Given the description of an element on the screen output the (x, y) to click on. 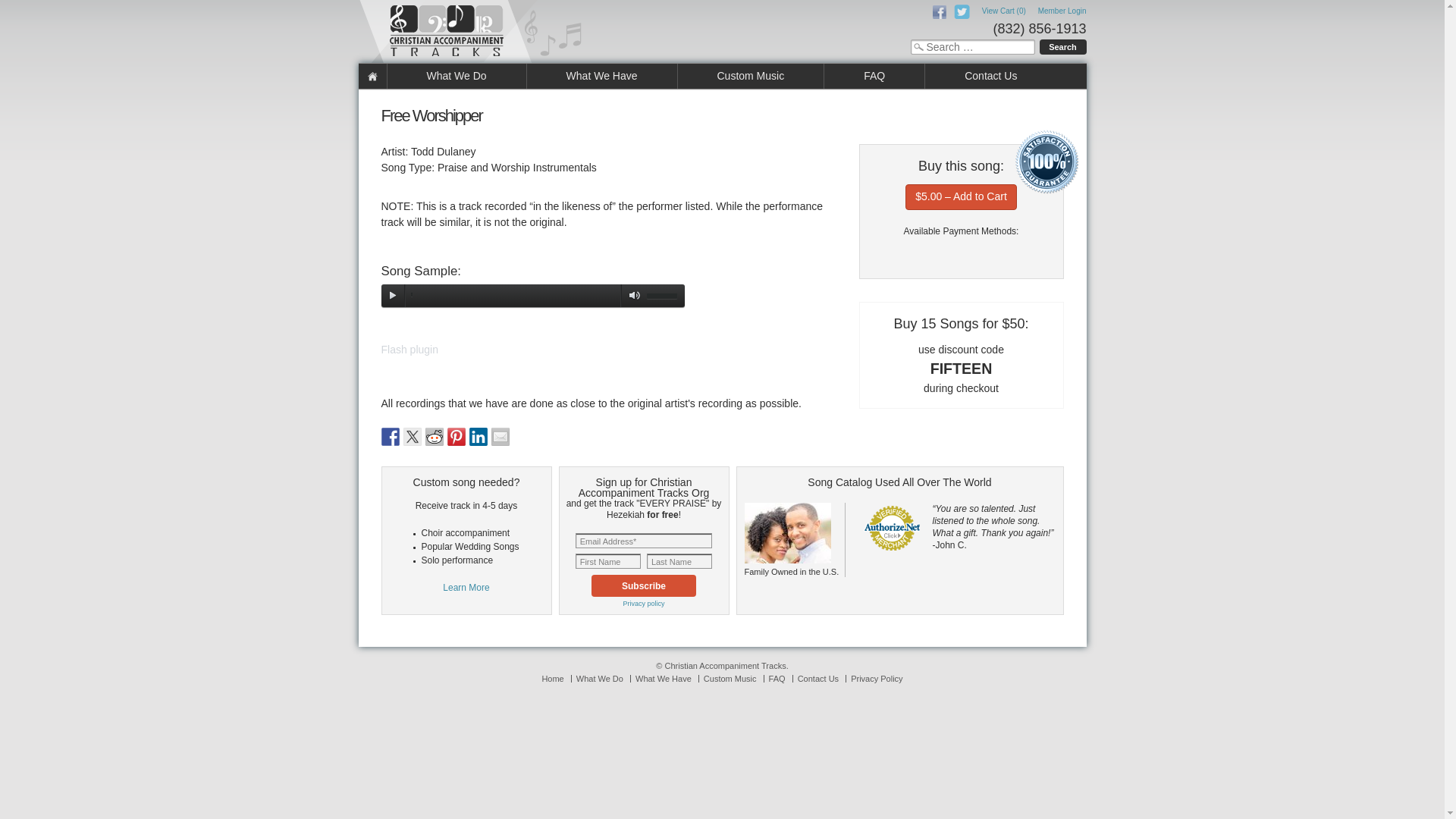
mute (631, 295)
Member Login (1062, 11)
Mastercard (892, 250)
Contact Us (990, 75)
What We Do (456, 75)
Subscribe (643, 585)
Search (1062, 46)
Christian Accompaniment Tracks (471, 31)
Search (1062, 46)
Home (372, 75)
Twitter (961, 11)
play (391, 295)
Share on Reddit (433, 436)
Facebook (939, 11)
mute (631, 295)
